Given the description of an element on the screen output the (x, y) to click on. 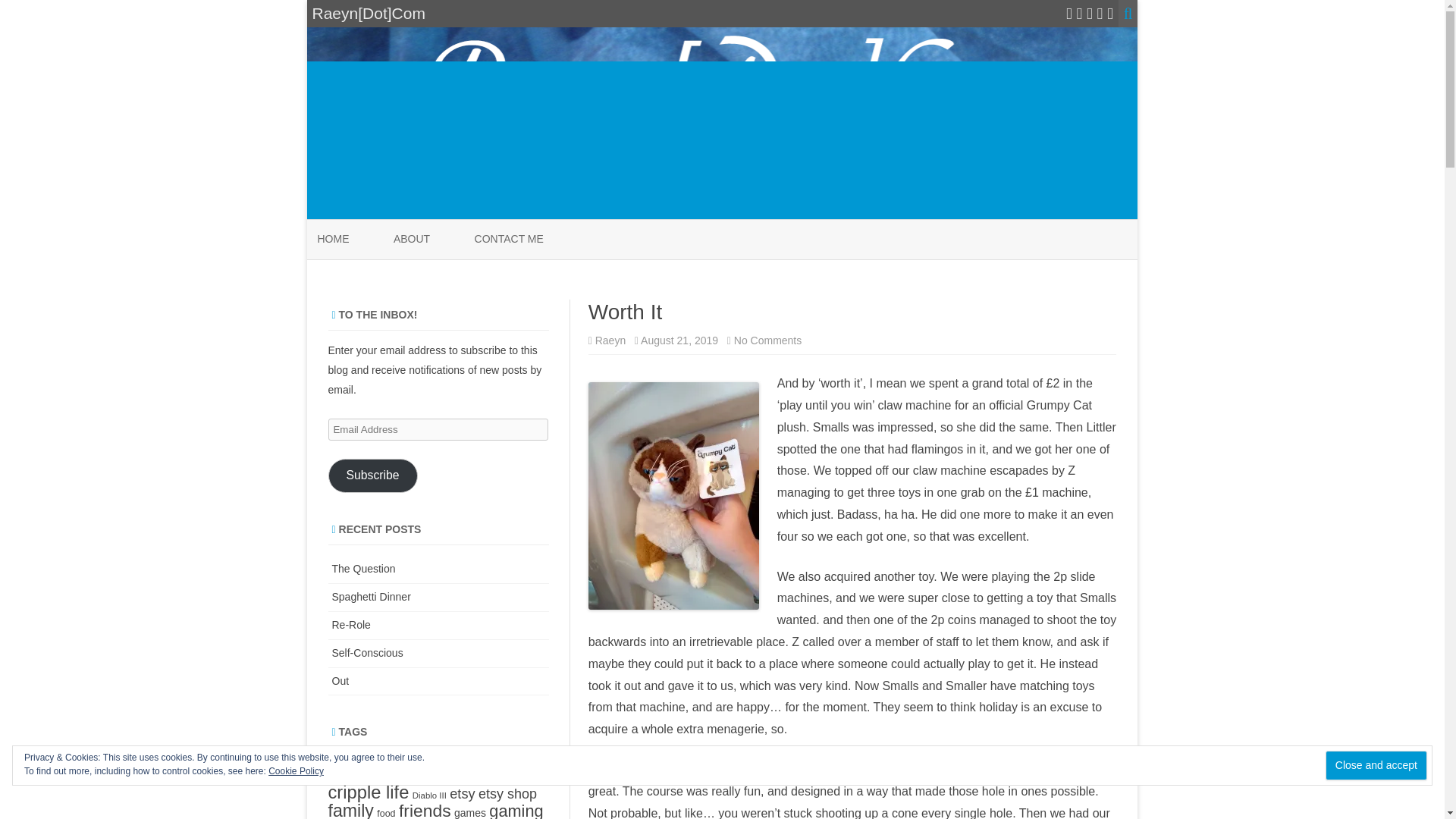
Subscribe (767, 340)
Skip to content (371, 475)
ABOUT (1375, 765)
CONTACT ME (411, 239)
Raeyn (508, 239)
Skip to content (610, 340)
